Given the description of an element on the screen output the (x, y) to click on. 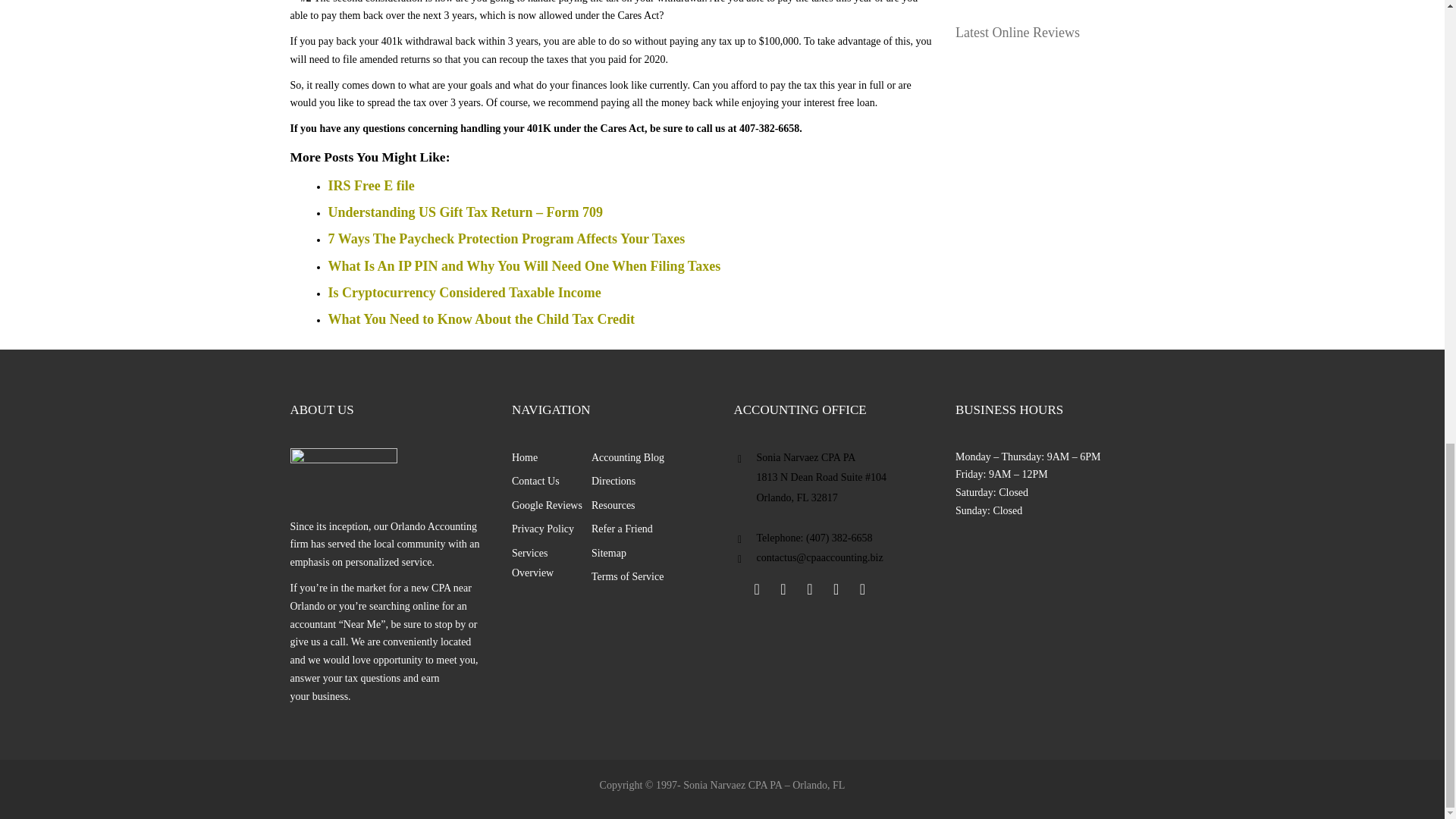
Is Cryptocurrency Considered Taxable Income (463, 292)
7 Ways The Paycheck Protection Program Affects Your Taxes (505, 238)
Youtube (835, 588)
Instagram (861, 588)
Twitter (783, 588)
What You Need to Know About the Child Tax Credit (480, 319)
Linked In (809, 588)
Facebook (756, 588)
IRS Free E file (370, 185)
